Given the description of an element on the screen output the (x, y) to click on. 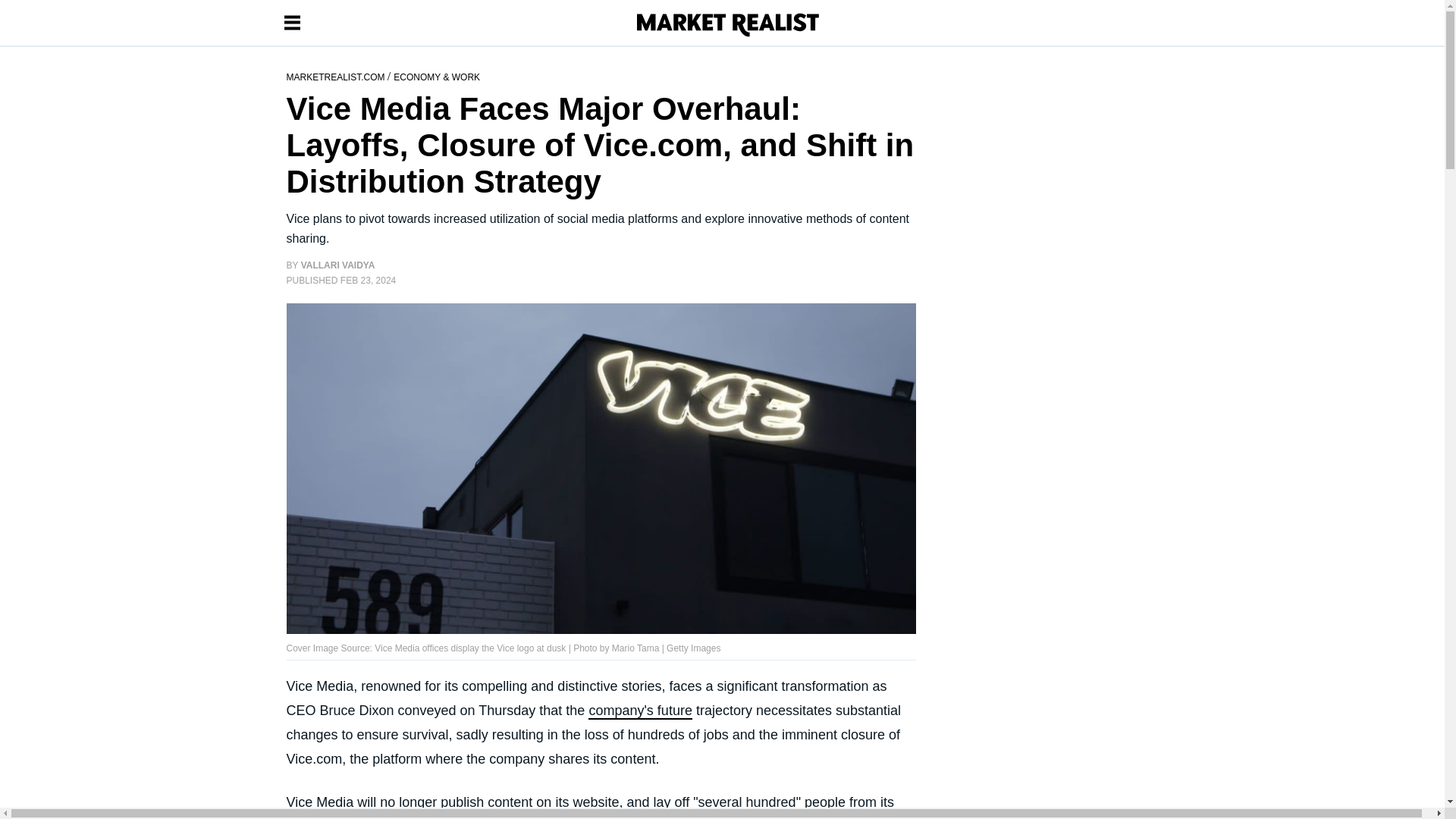
VALLARI VAIDYA (338, 265)
MARKETREALIST.COM (336, 75)
company's future (640, 710)
